Given the description of an element on the screen output the (x, y) to click on. 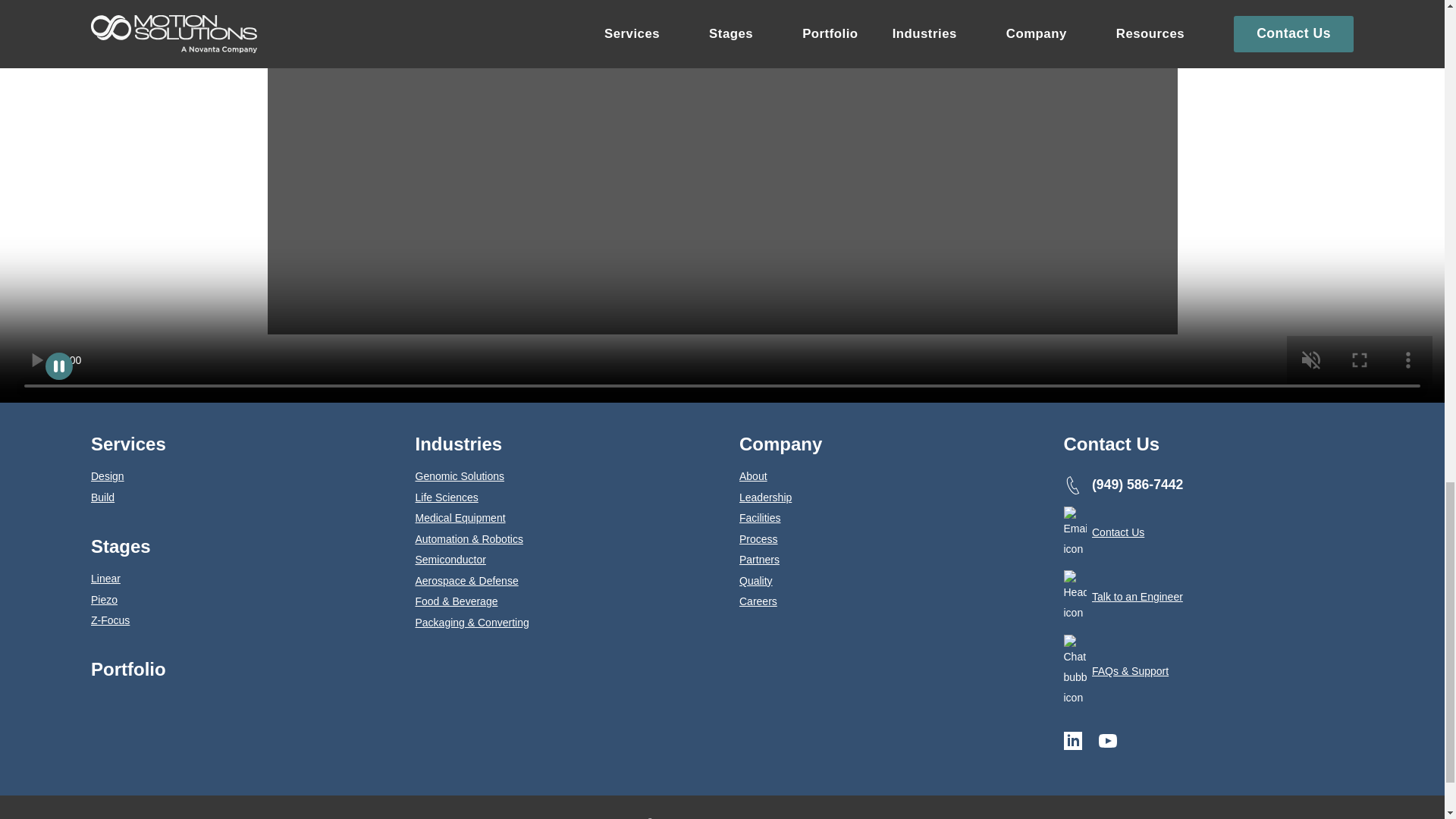
Motion Solutions YouTube (1107, 741)
Pause video (58, 366)
Motion Solutions LinkedIn (1071, 741)
